Given the description of an element on the screen output the (x, y) to click on. 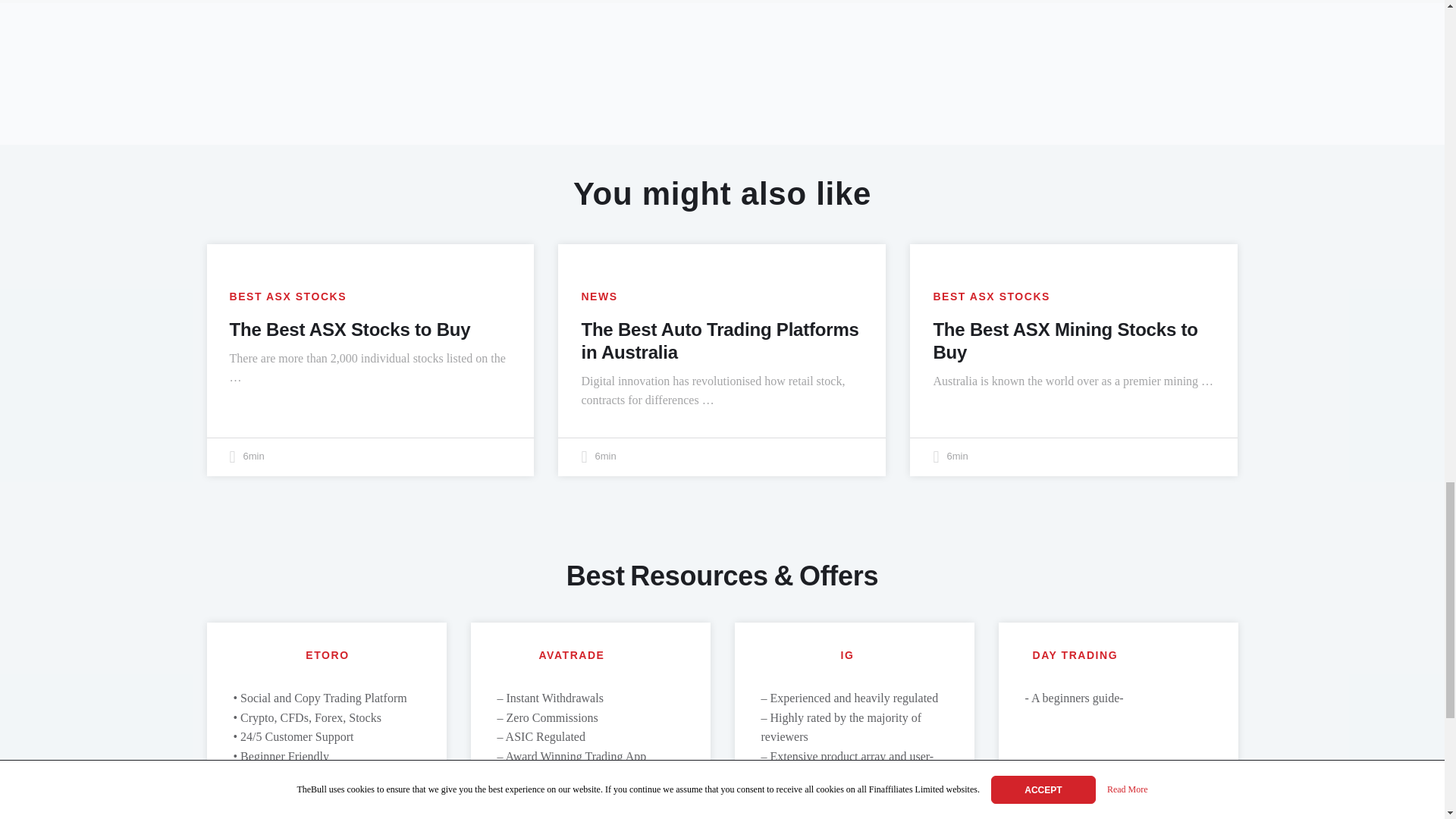
The Best Auto Trading Platforms in Australia (719, 340)
The Best ASX Stocks to Buy (349, 329)
NEWS (598, 296)
BEST ASX STOCKS (991, 296)
BEST ASX STOCKS (287, 296)
